Given the description of an element on the screen output the (x, y) to click on. 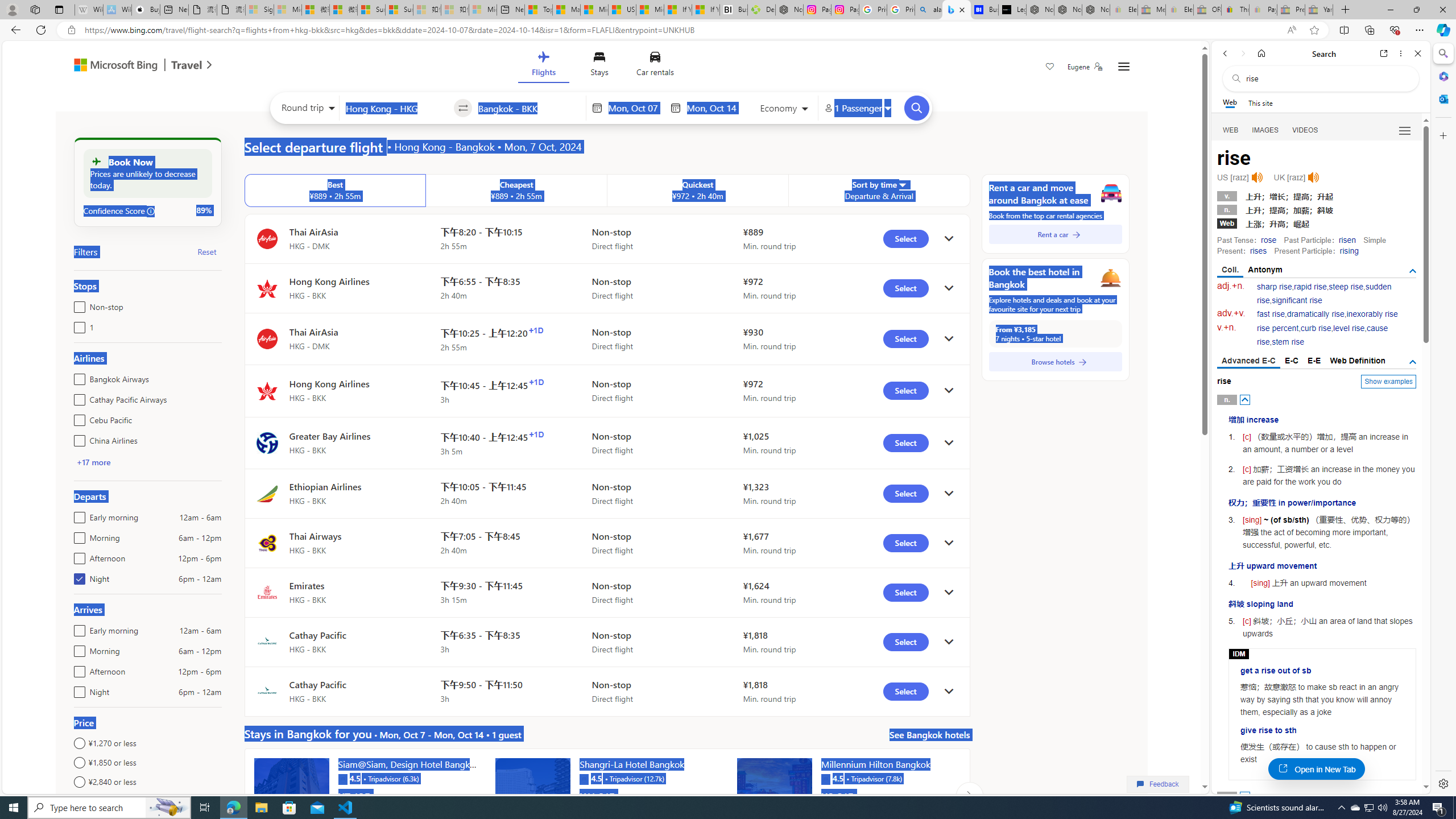
End date (713, 107)
Advanced E-C (1248, 361)
Browse hotels (1055, 361)
Going to? (528, 107)
Preferences (1403, 129)
WEB (1231, 130)
Flights (542, 65)
